Given the description of an element on the screen output the (x, y) to click on. 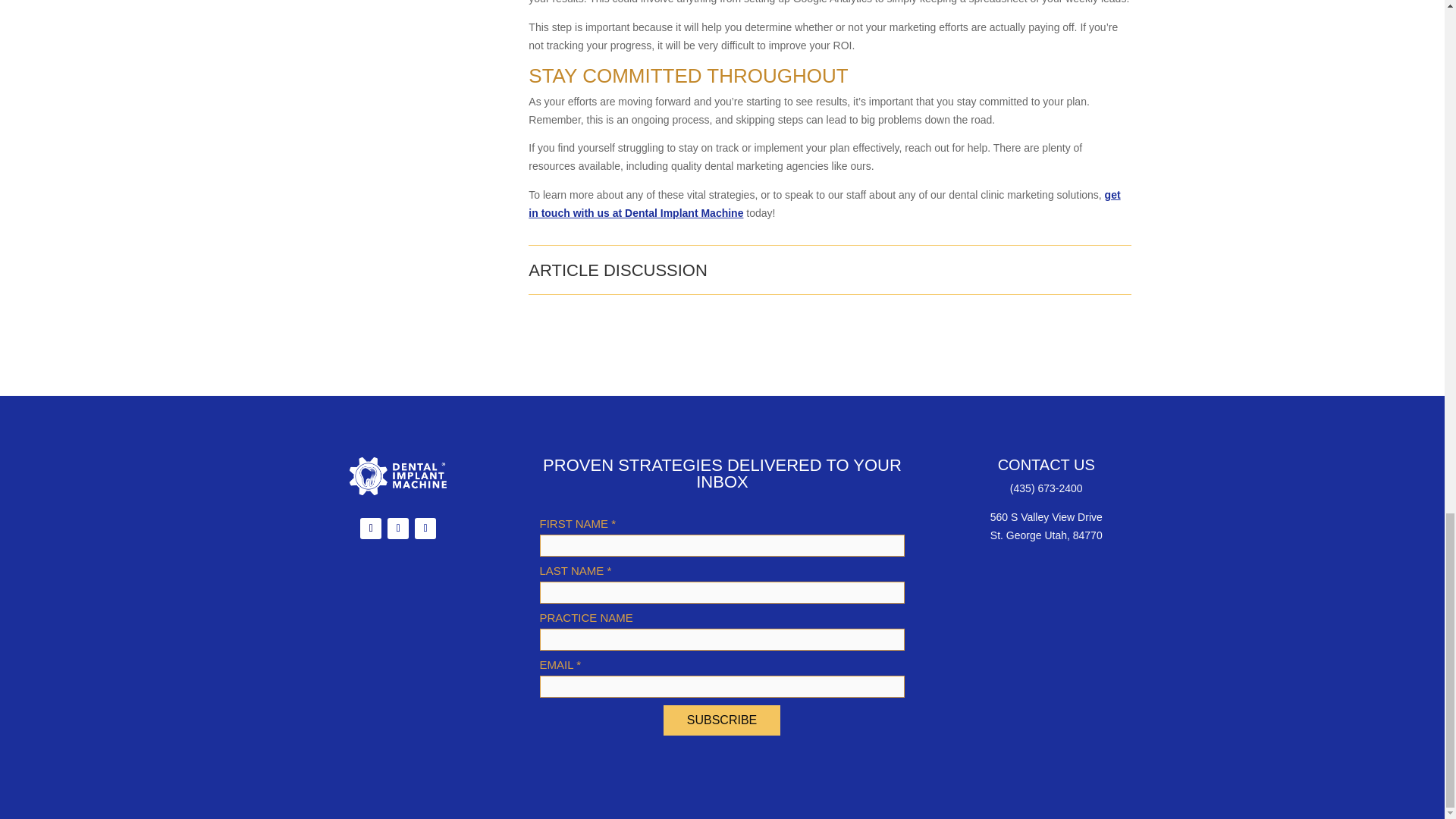
Follow on Facebook (370, 527)
Follow on LinkedIn (424, 527)
get in touch with us at Dental Implant Machine (823, 204)
Follow on Youtube (398, 527)
White DIM Official Logo (397, 476)
